Given the description of an element on the screen output the (x, y) to click on. 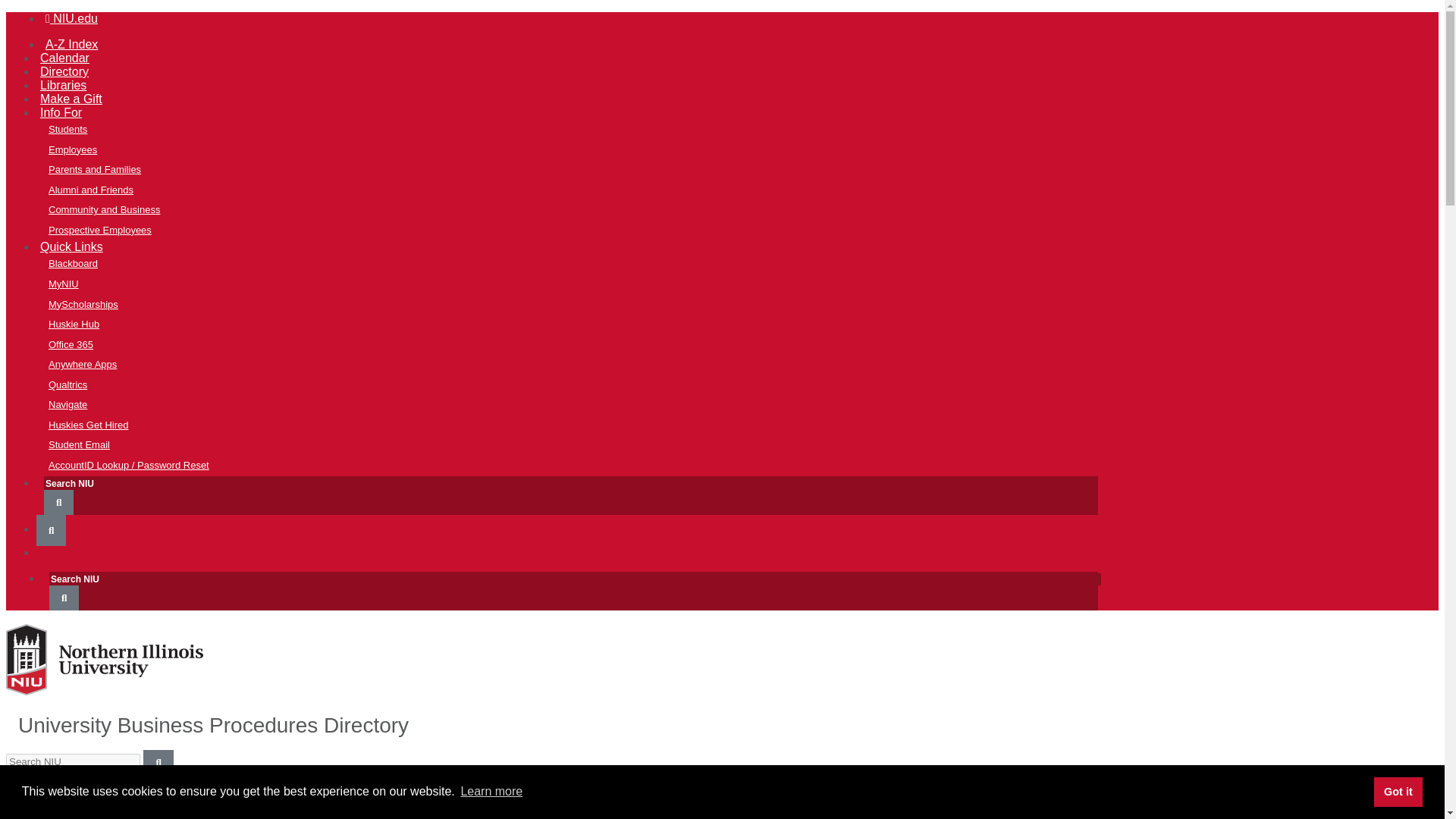
Qualtrics (579, 385)
TOGGLE SEARCH (58, 502)
Community and Business (579, 209)
SUBMIT (63, 597)
Procedure Categories (567, 816)
Prospective Employees (579, 230)
Anywhere Apps (579, 364)
Libraries (63, 85)
MyNIU (579, 284)
Navigate (579, 404)
Parents and Families (579, 169)
A-Z Index (71, 44)
Learn more (491, 791)
Huskie Hub (579, 324)
Info For (60, 112)
